Given the description of an element on the screen output the (x, y) to click on. 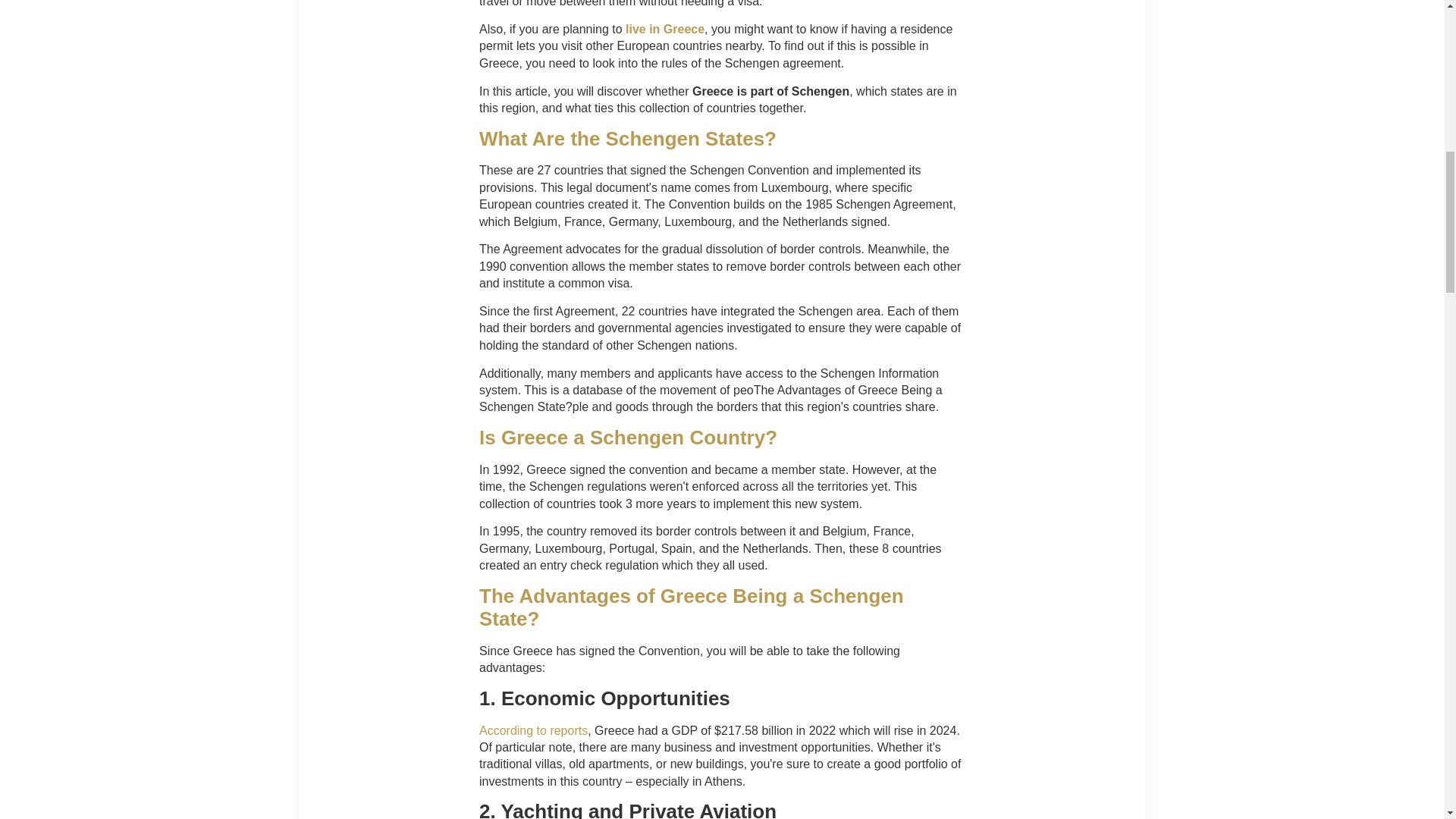
According to reports (533, 730)
live in Greece (665, 29)
